Given the description of an element on the screen output the (x, y) to click on. 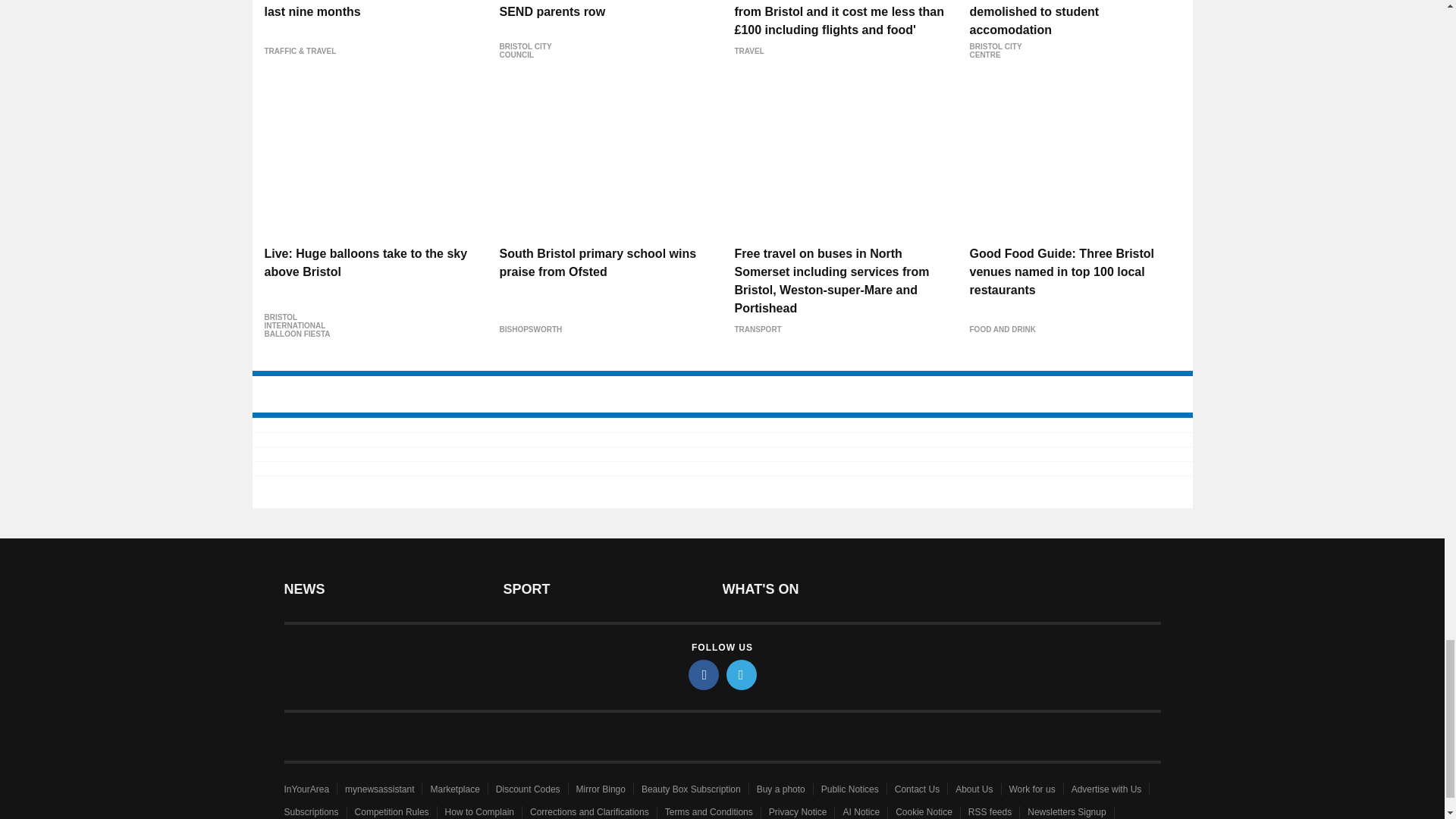
twitter (741, 675)
facebook (703, 675)
